Given the description of an element on the screen output the (x, y) to click on. 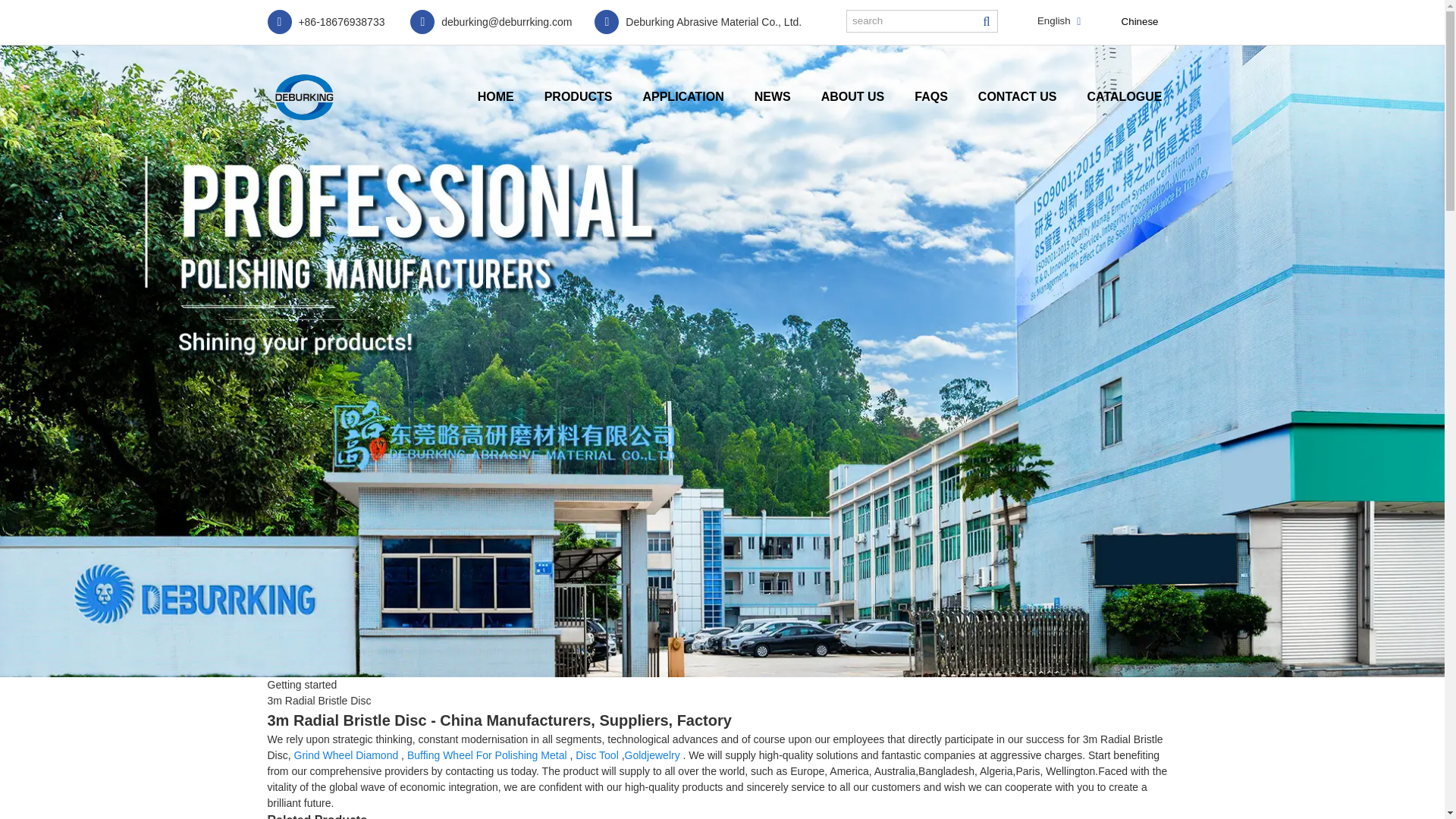
Grind Wheel Diamond (346, 755)
FAQS (930, 96)
Chinese (1127, 21)
Getting started (301, 684)
CONTACT US (1016, 96)
Grind Wheel Diamond (346, 755)
CATALOGUE (1124, 96)
Disc Tool (596, 755)
Chinese (1127, 21)
NEWS (772, 96)
